Given the description of an element on the screen output the (x, y) to click on. 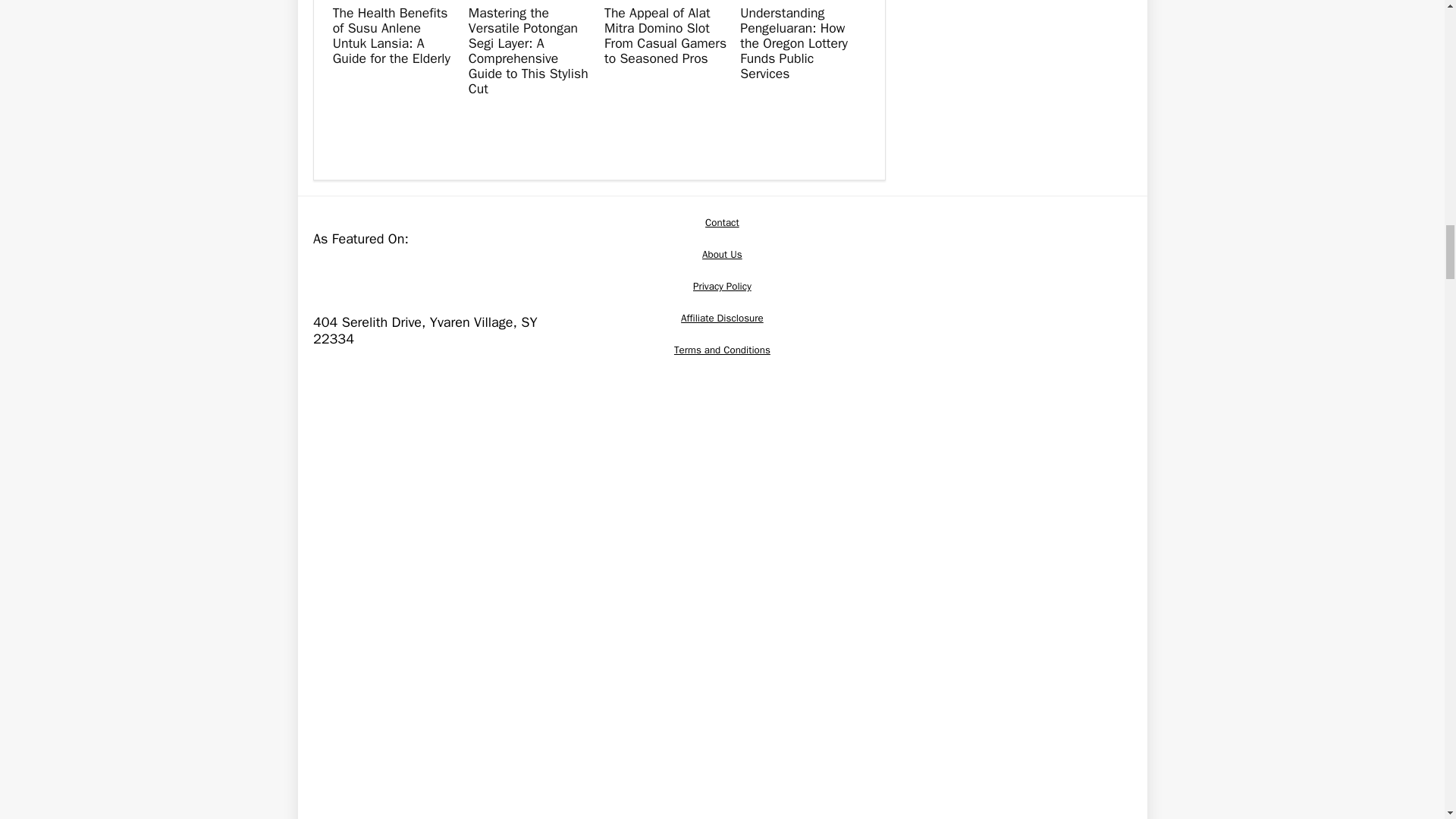
As Featured On: (426, 271)
